Given the description of an element on the screen output the (x, y) to click on. 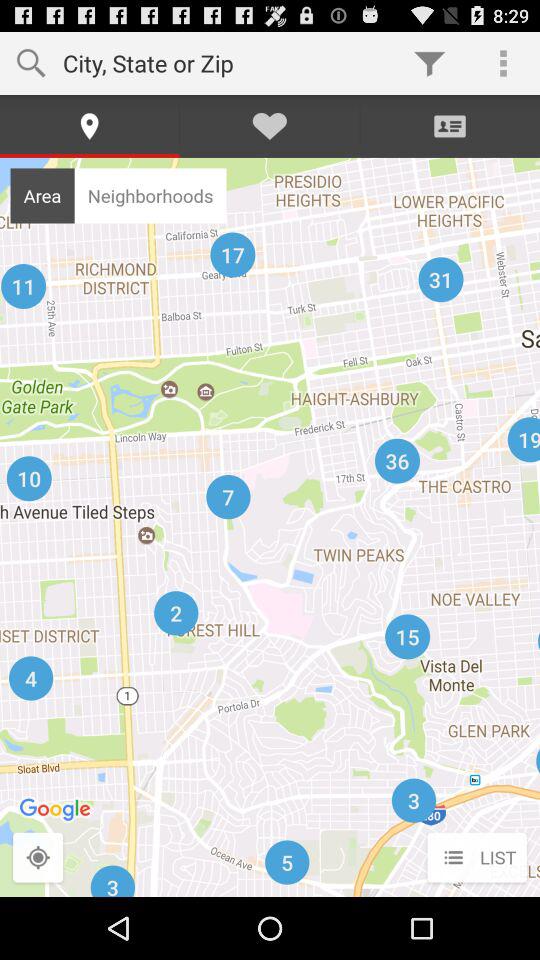
location (37, 858)
